Given the description of an element on the screen output the (x, y) to click on. 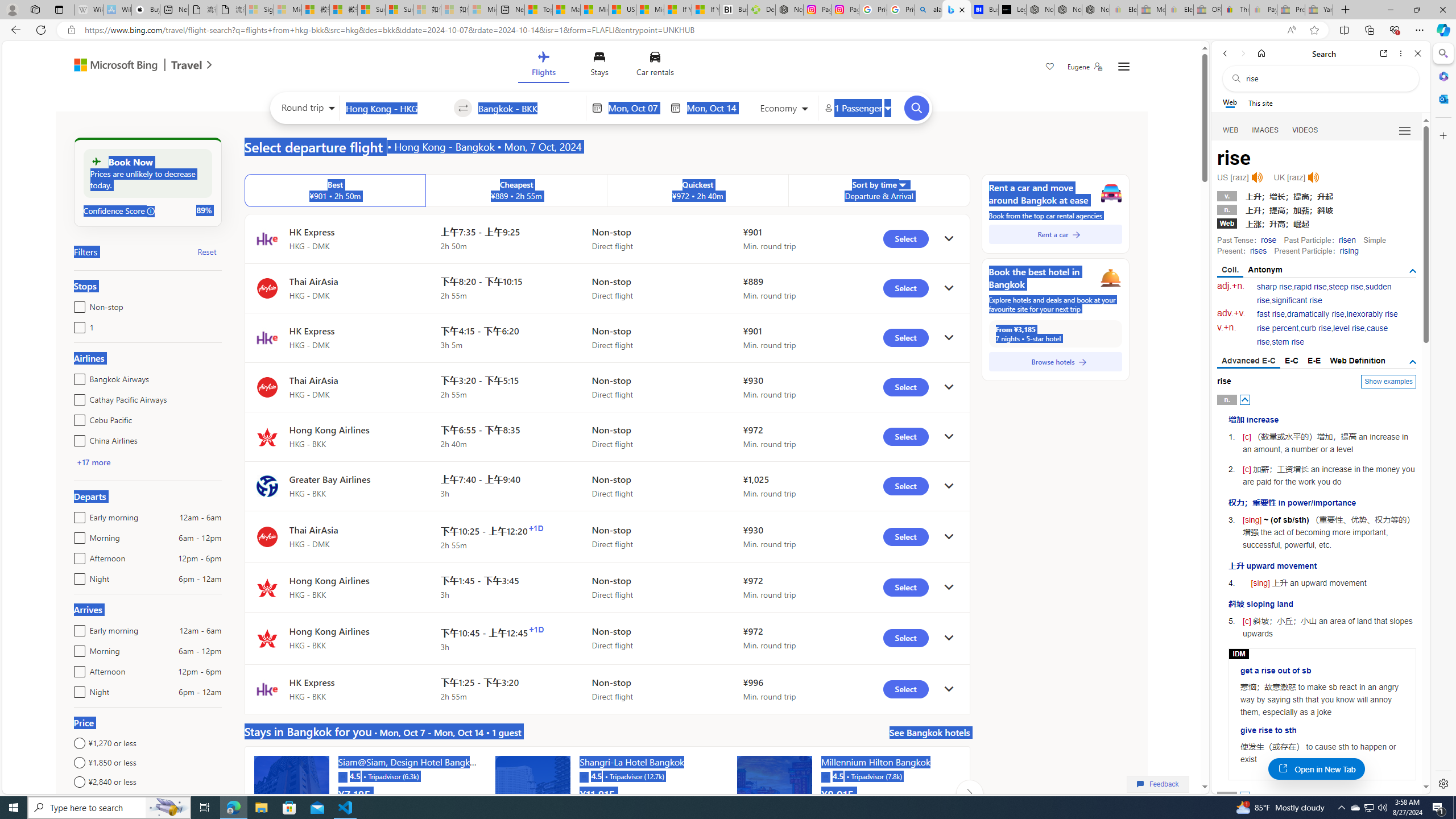
Sign in to your Microsoft account - Sleeping (259, 9)
Car rentals (654, 65)
Class: b_serphb (1404, 130)
Microsoft Services Agreement - Sleeping (288, 9)
E-C (1291, 360)
Reset (206, 251)
rose (1268, 239)
Any price (146, 801)
Payments Terms of Use | eBay.com - Sleeping (1262, 9)
